Given the description of an element on the screen output the (x, y) to click on. 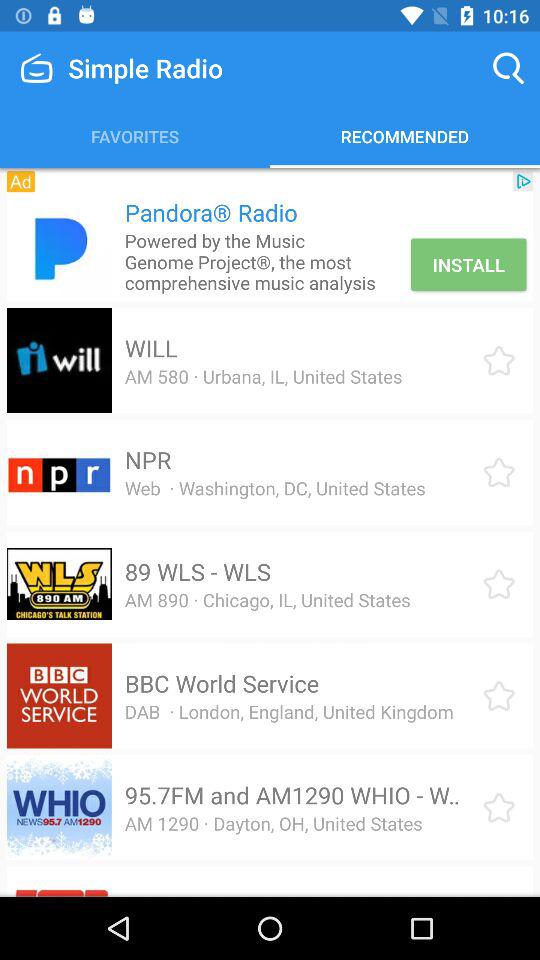
jump until am 1290 dayton item (273, 823)
